Given the description of an element on the screen output the (x, y) to click on. 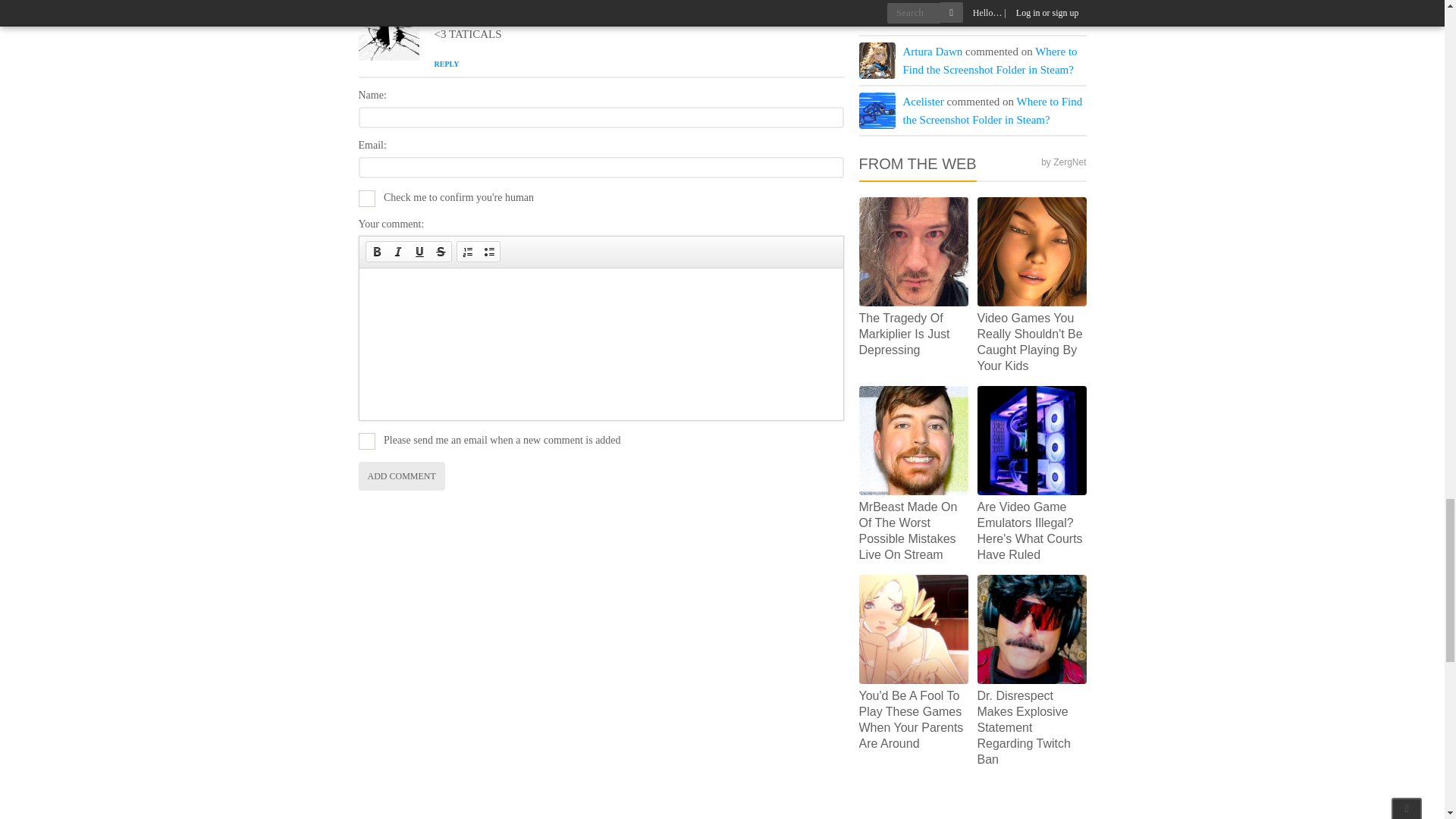
REPLY (445, 63)
